Given the description of an element on the screen output the (x, y) to click on. 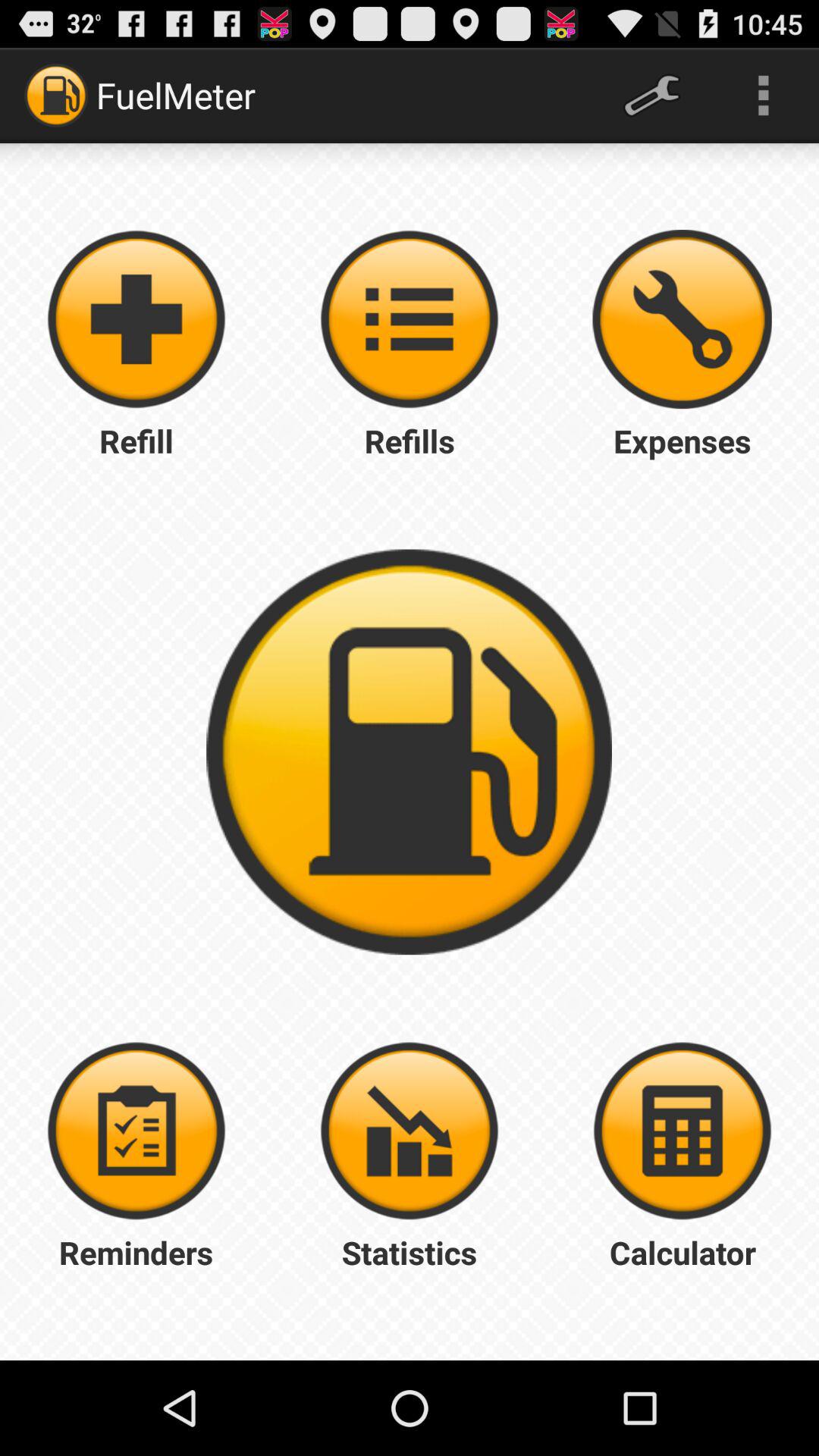
open statistics menu (409, 1130)
